Given the description of an element on the screen output the (x, y) to click on. 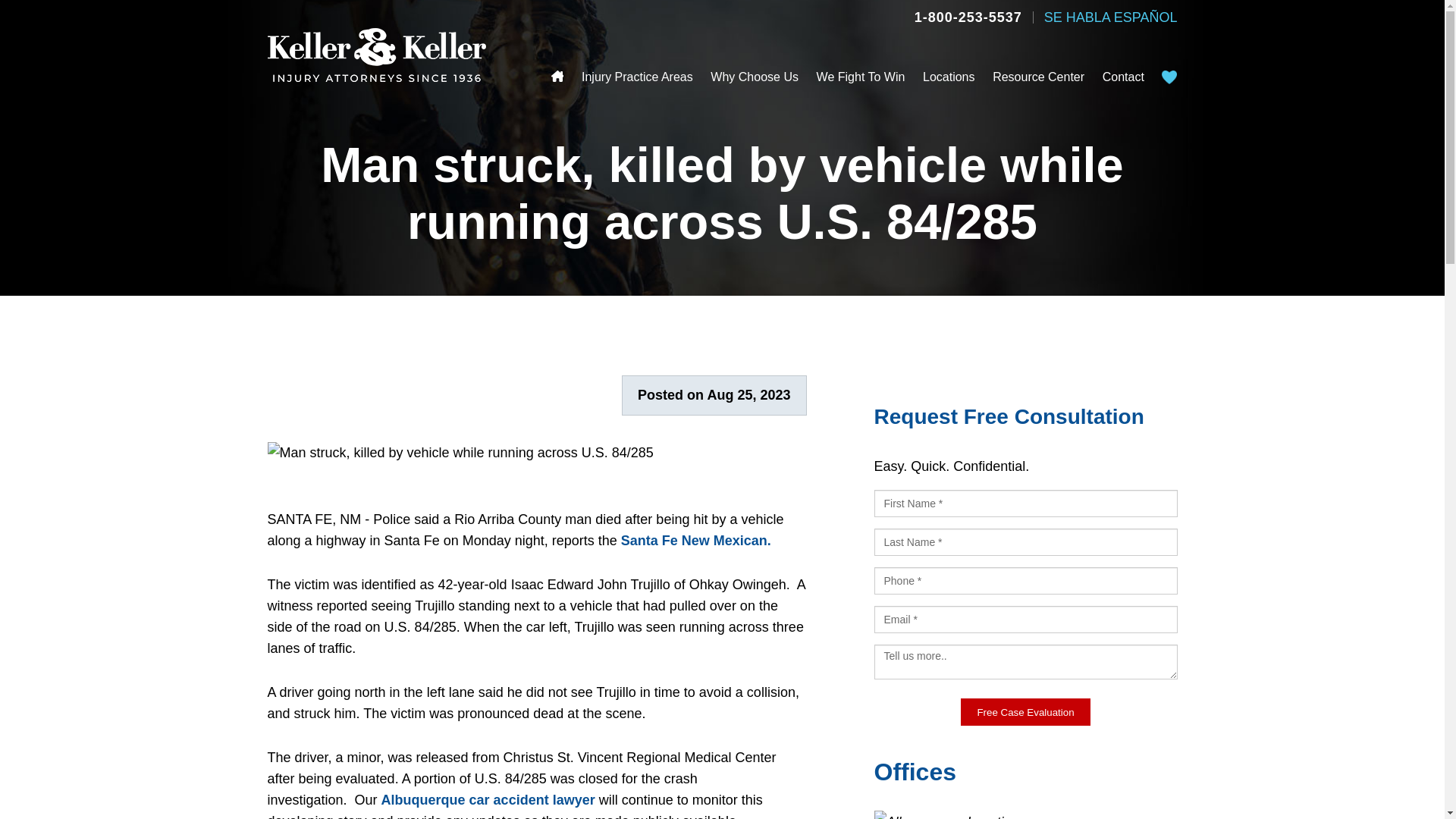
We Fight To Win (860, 77)
Injury Practice Areas (636, 77)
Locations (949, 77)
1-800-253-5537 (968, 17)
Why Choose Us (753, 77)
